Given the description of an element on the screen output the (x, y) to click on. 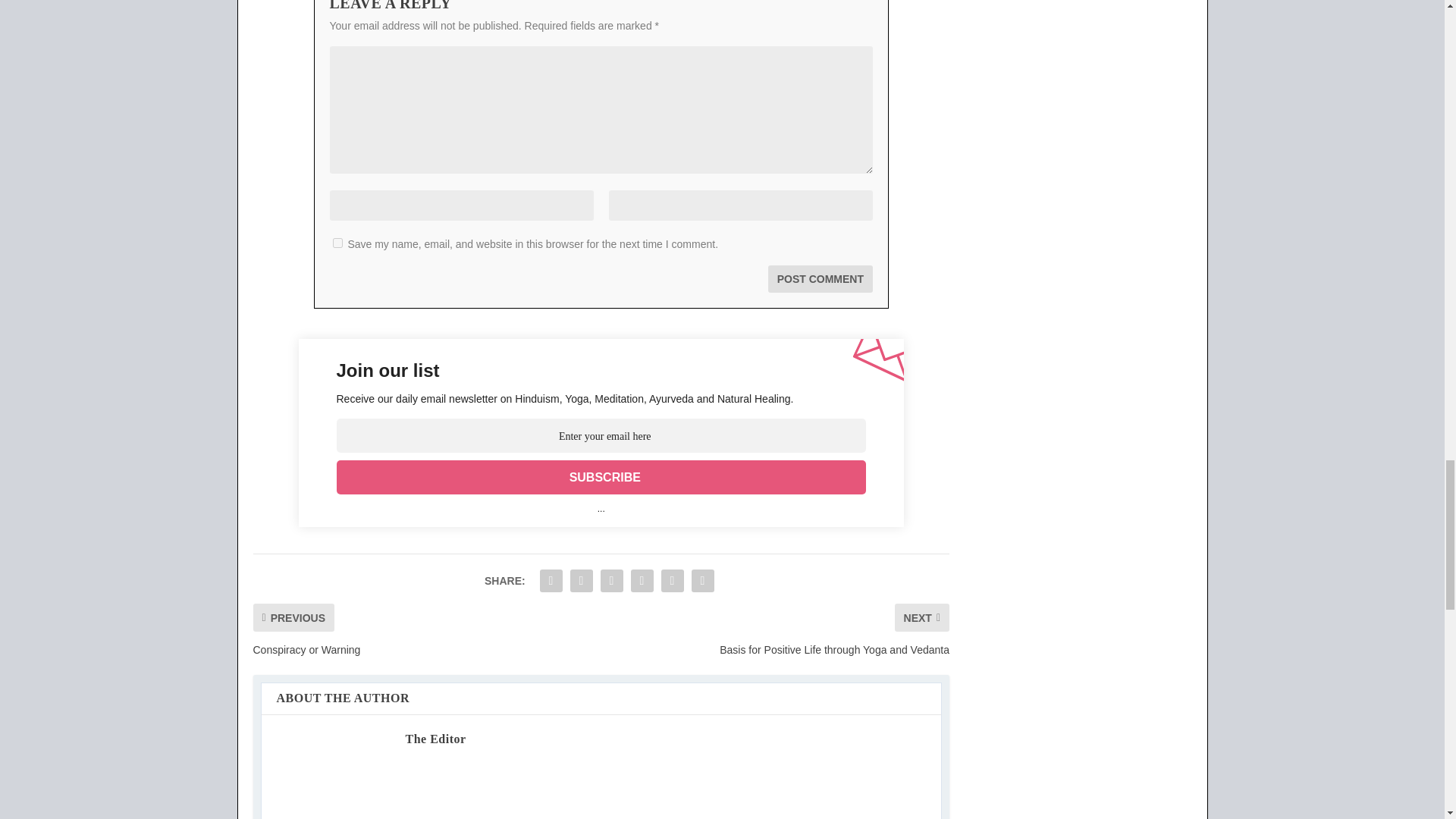
Post Comment (820, 278)
Share "Pyorrhea: A Serious Dental Problem" via Email (672, 580)
Subscribe (601, 477)
Share "Pyorrhea: A Serious Dental Problem" via Facebook (550, 580)
Share "Pyorrhea: A Serious Dental Problem" via Twitter (581, 580)
View all posts by The Editor (434, 738)
yes (336, 243)
Share "Pyorrhea: A Serious Dental Problem" via Print (702, 580)
Share "Pyorrhea: A Serious Dental Problem" via Pinterest (642, 580)
Share "Pyorrhea: A Serious Dental Problem" via Tumblr (611, 580)
